Given the description of an element on the screen output the (x, y) to click on. 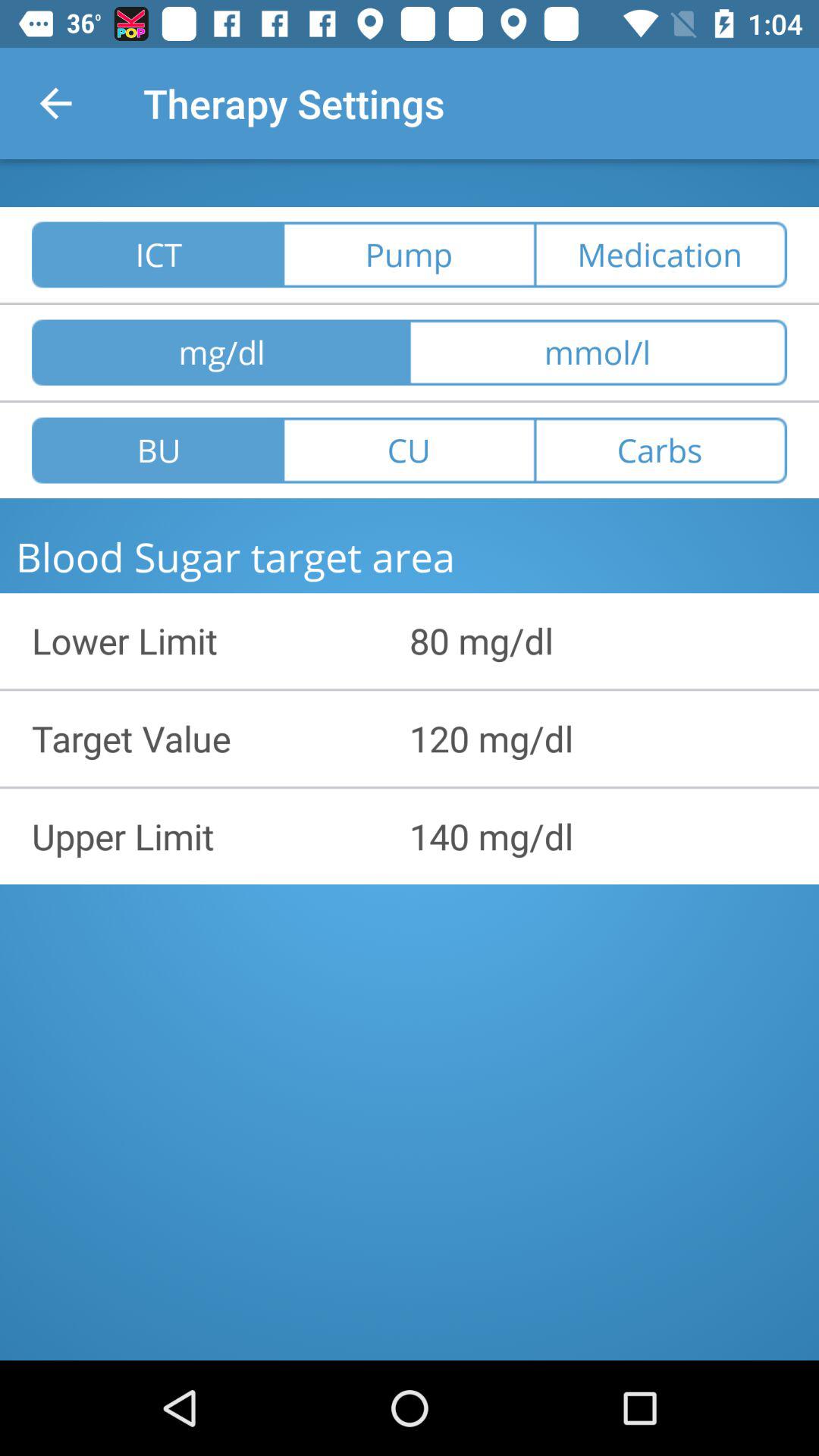
select the icon next to the carbs icon (409, 450)
